Given the description of an element on the screen output the (x, y) to click on. 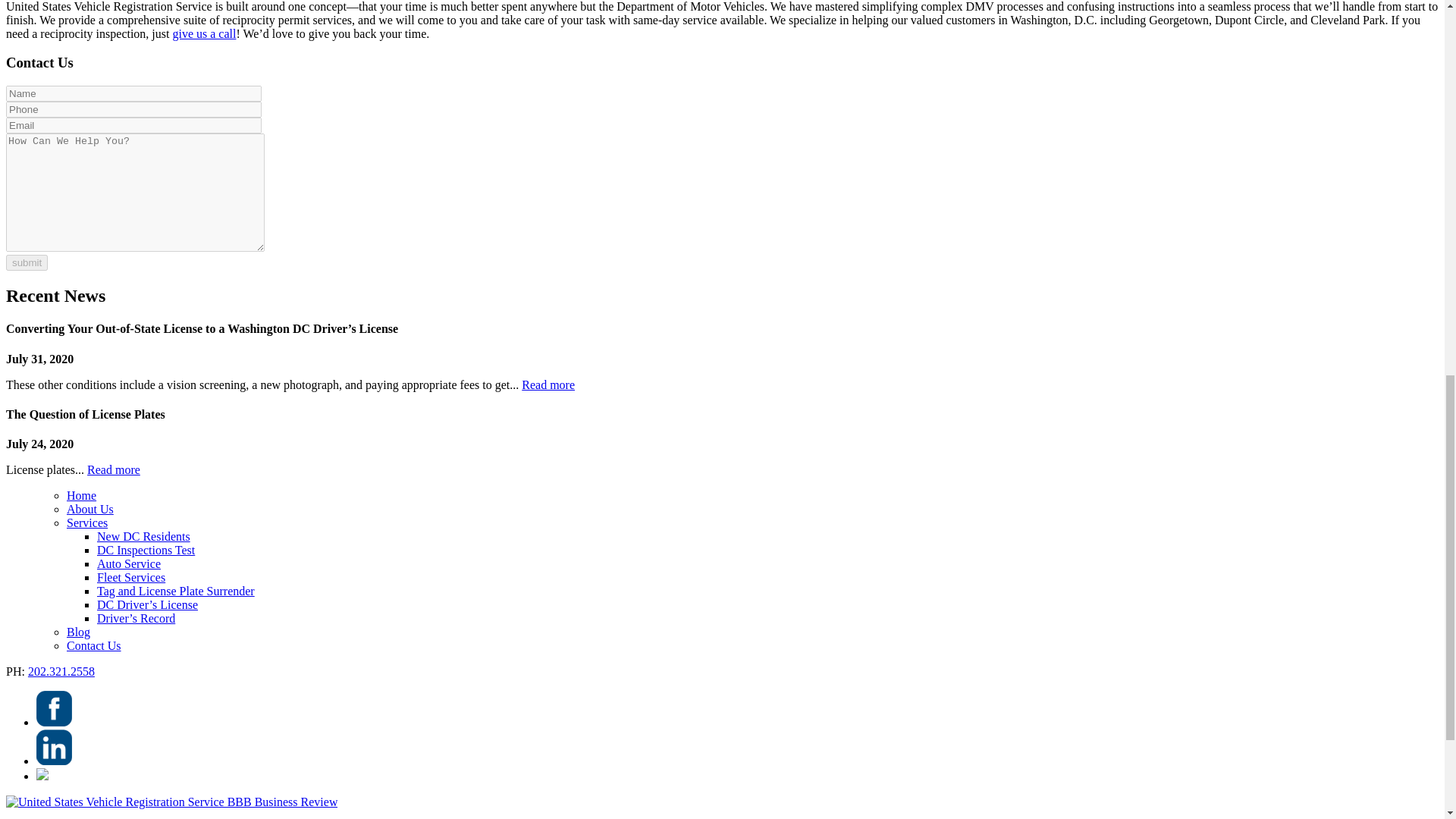
Auto Service (128, 563)
Services (86, 522)
give us a call (203, 33)
Fleet Services (131, 576)
About Us (89, 508)
Tag and License Plate Surrender (175, 590)
Read more (548, 384)
submit (26, 262)
Blog (78, 631)
202.321.2558 (60, 671)
